Given the description of an element on the screen output the (x, y) to click on. 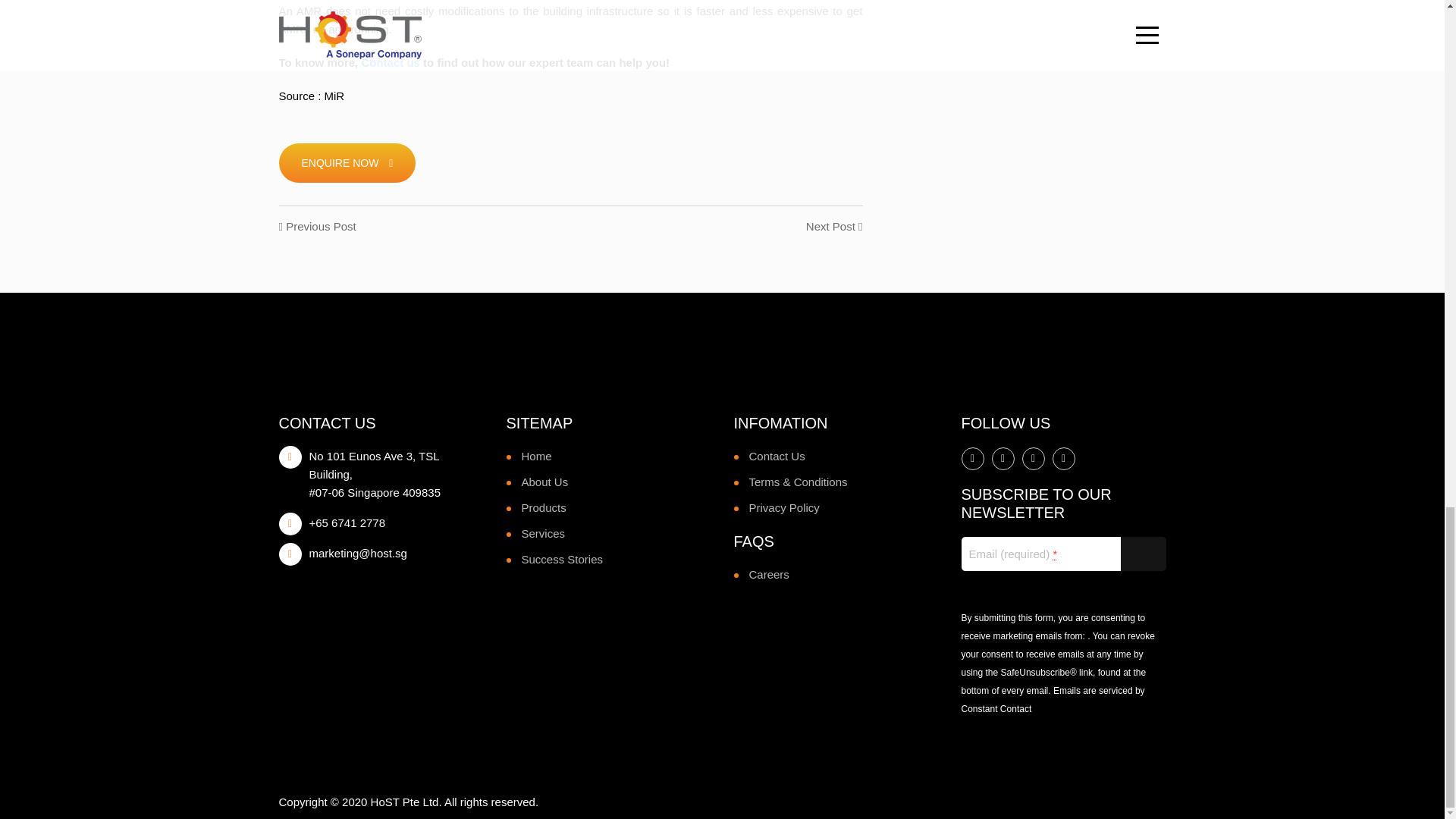
Careers (769, 574)
ENQUIRE NOW (347, 162)
Sign up (1143, 553)
Services (543, 533)
Contact us (390, 62)
Contact Us (777, 455)
Home (536, 455)
About Us (545, 481)
Success Stories (562, 558)
Products (543, 507)
